Given the description of an element on the screen output the (x, y) to click on. 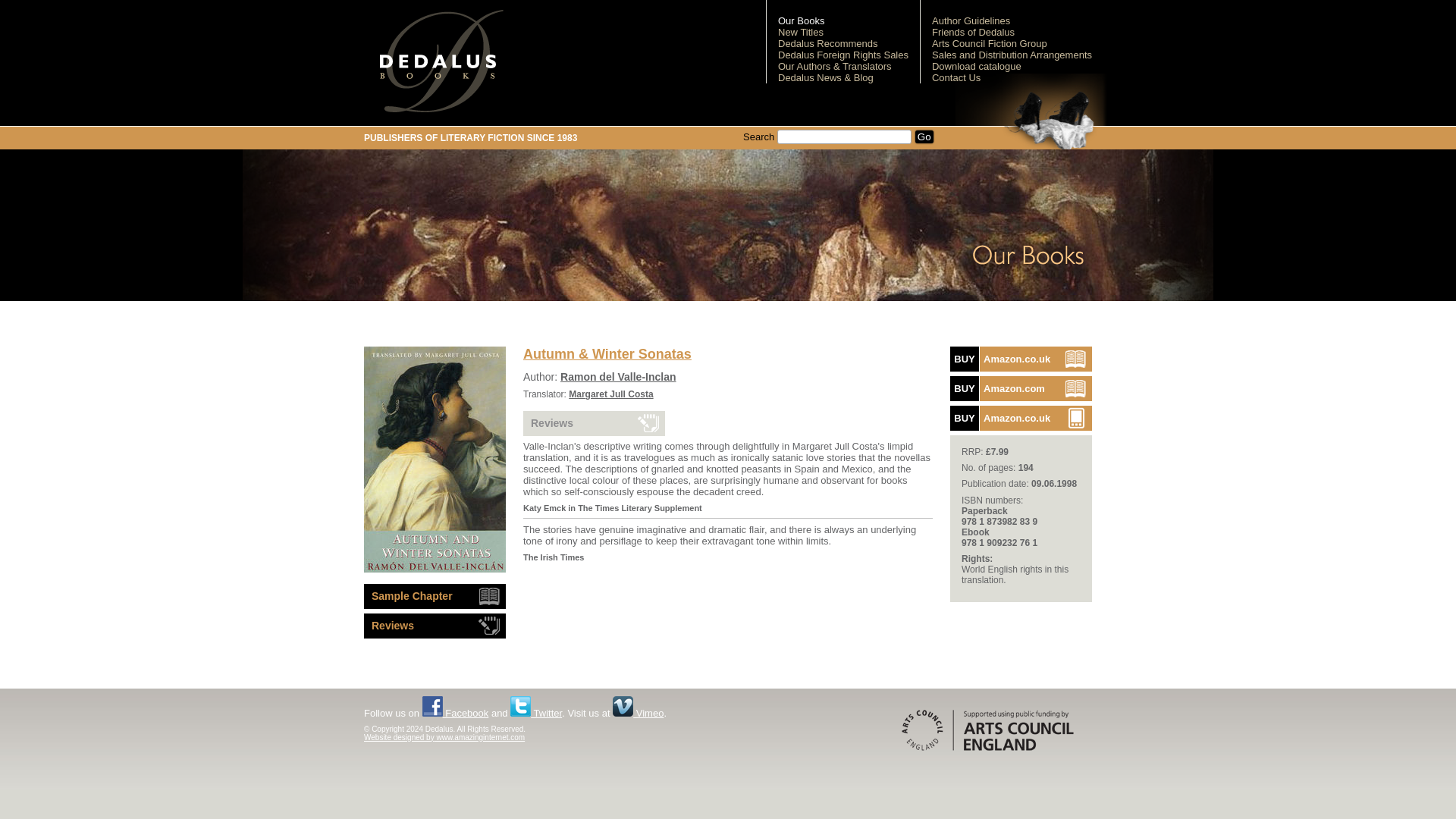
Reviews (593, 423)
Twitter (536, 713)
Download catalogue (976, 66)
Go (924, 136)
Author Guidelines (970, 20)
Ramon del Valle-Inclan (1021, 417)
Visit us on Facebook (1021, 388)
Dedalus Foreign Rights Sales (618, 377)
Visit us on Twitter (1021, 358)
Friends of Dedalus (455, 713)
Facebook (842, 54)
Sales and Distribution Arrangements (536, 713)
